Given the description of an element on the screen output the (x, y) to click on. 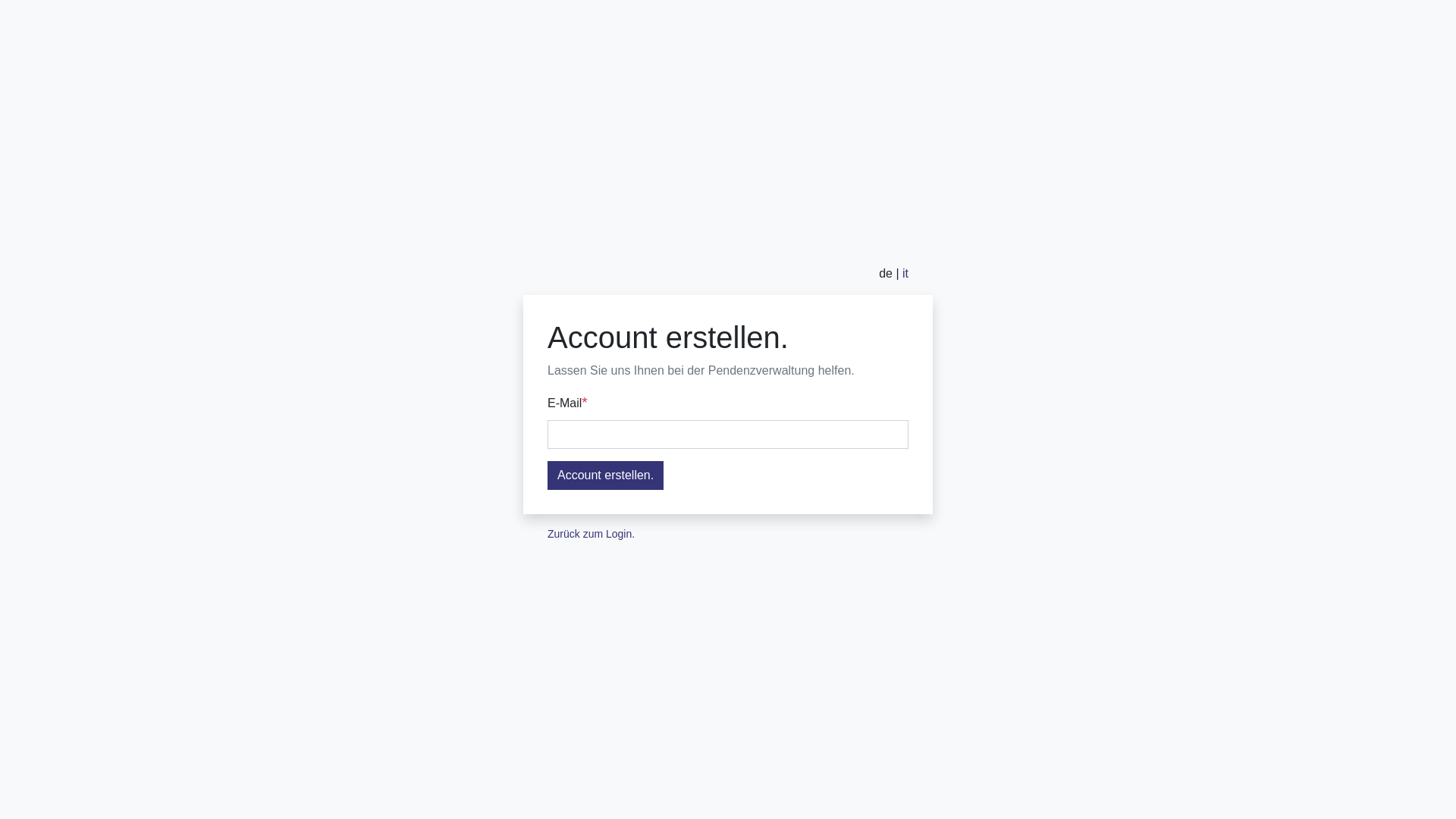
it Element type: text (905, 272)
Account erstellen. Element type: text (605, 475)
